Given the description of an element on the screen output the (x, y) to click on. 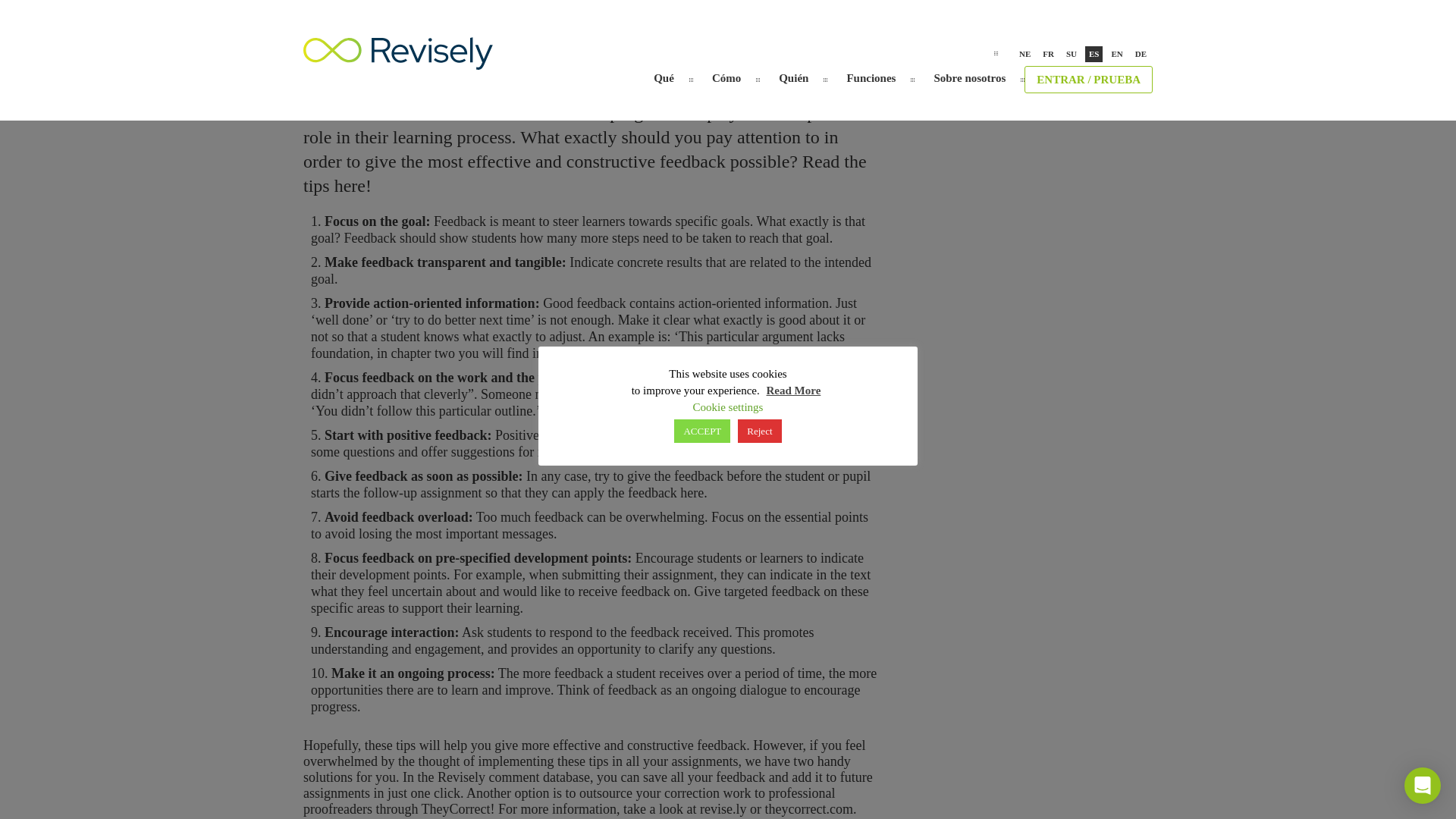
10 tips on how to give feedback effectively (591, 15)
